Given the description of an element on the screen output the (x, y) to click on. 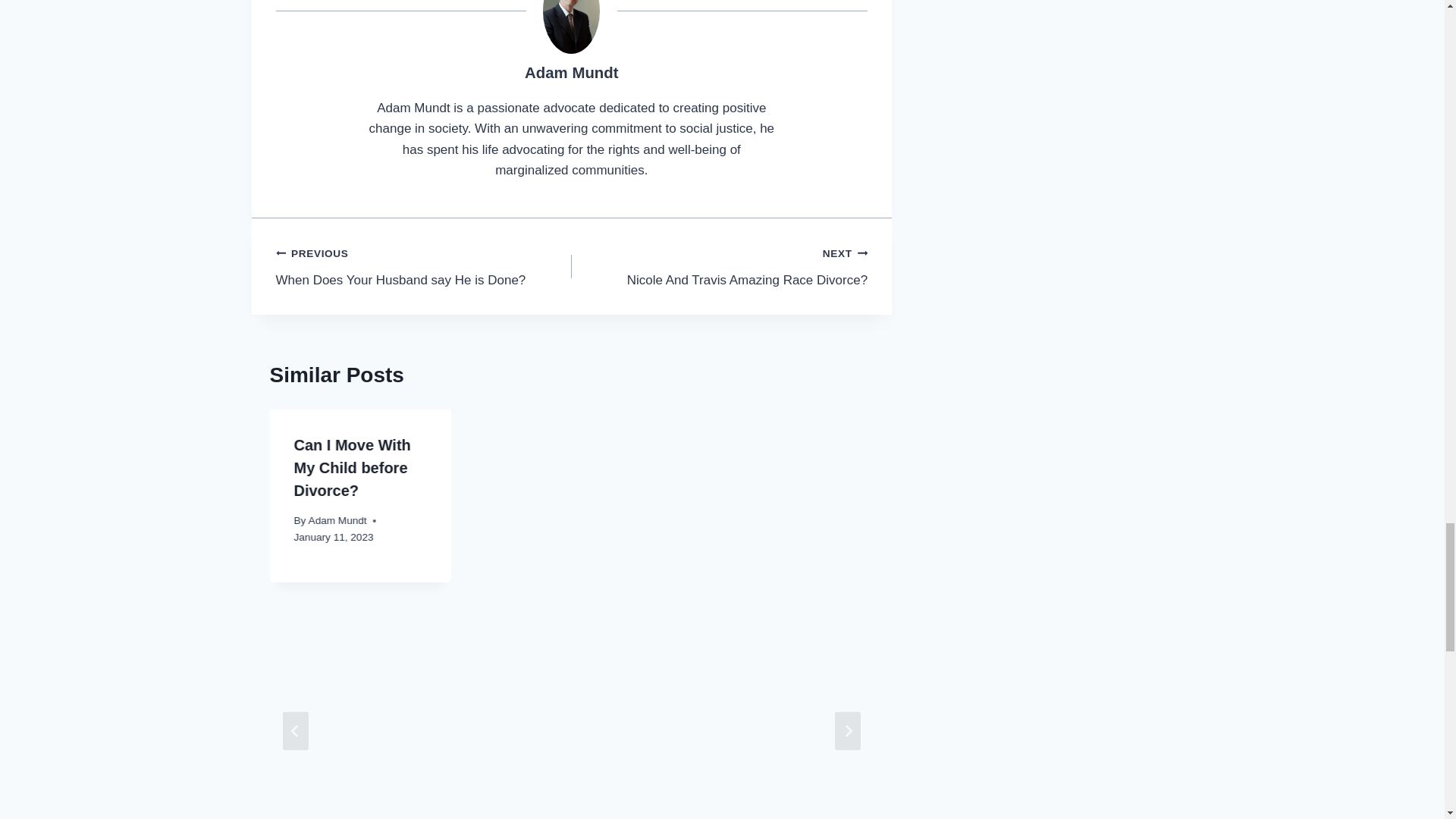
Posts by Adam Mundt (424, 266)
Adam Mundt (570, 72)
